Given the description of an element on the screen output the (x, y) to click on. 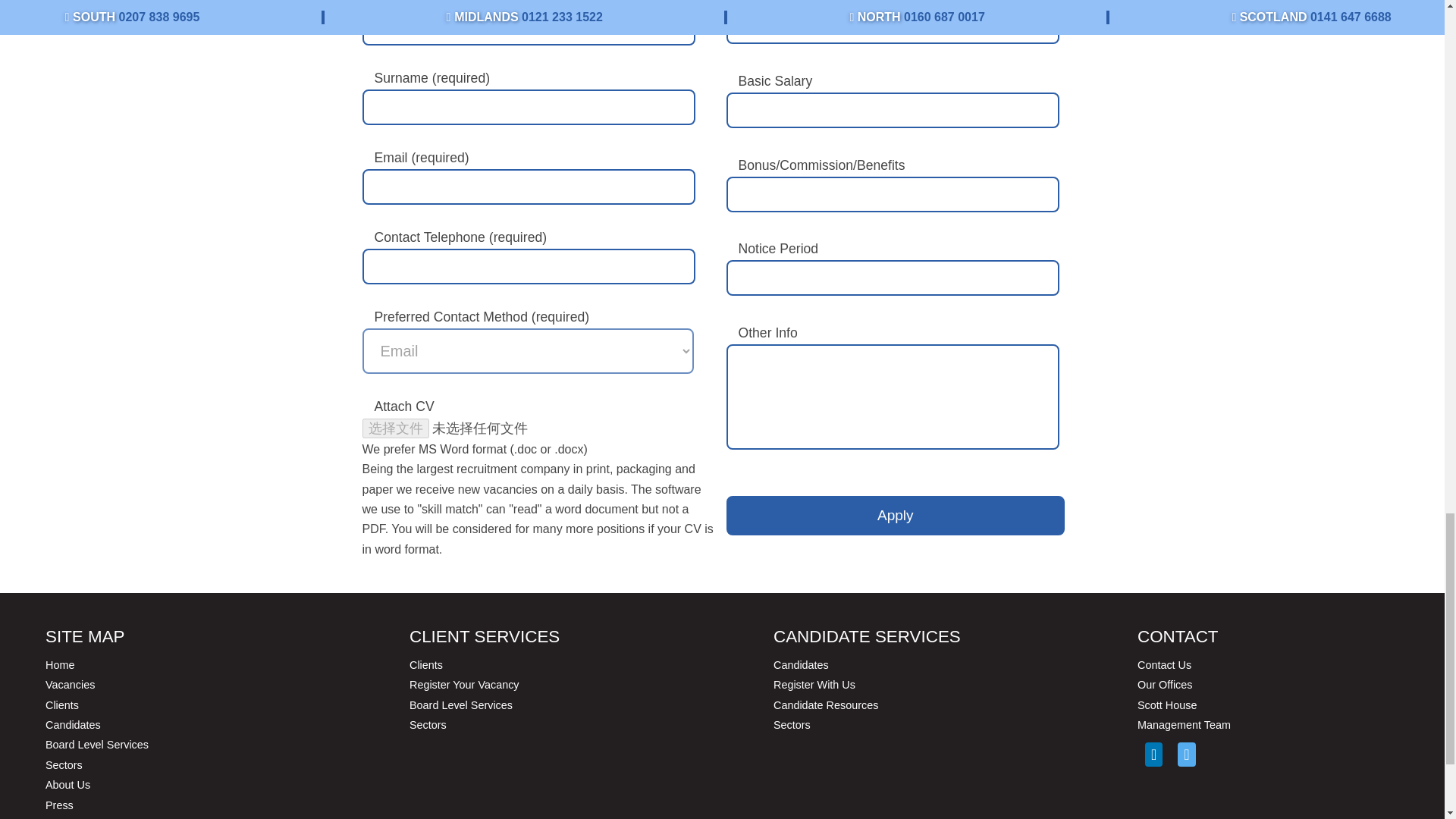
Home (59, 664)
Sectors (63, 765)
Apply (895, 515)
Candidates (72, 725)
About Us (67, 784)
Press (59, 805)
Sectors (427, 725)
Apply (895, 515)
Board Level Services (96, 744)
Register Your Vacancy (464, 684)
